Given the description of an element on the screen output the (x, y) to click on. 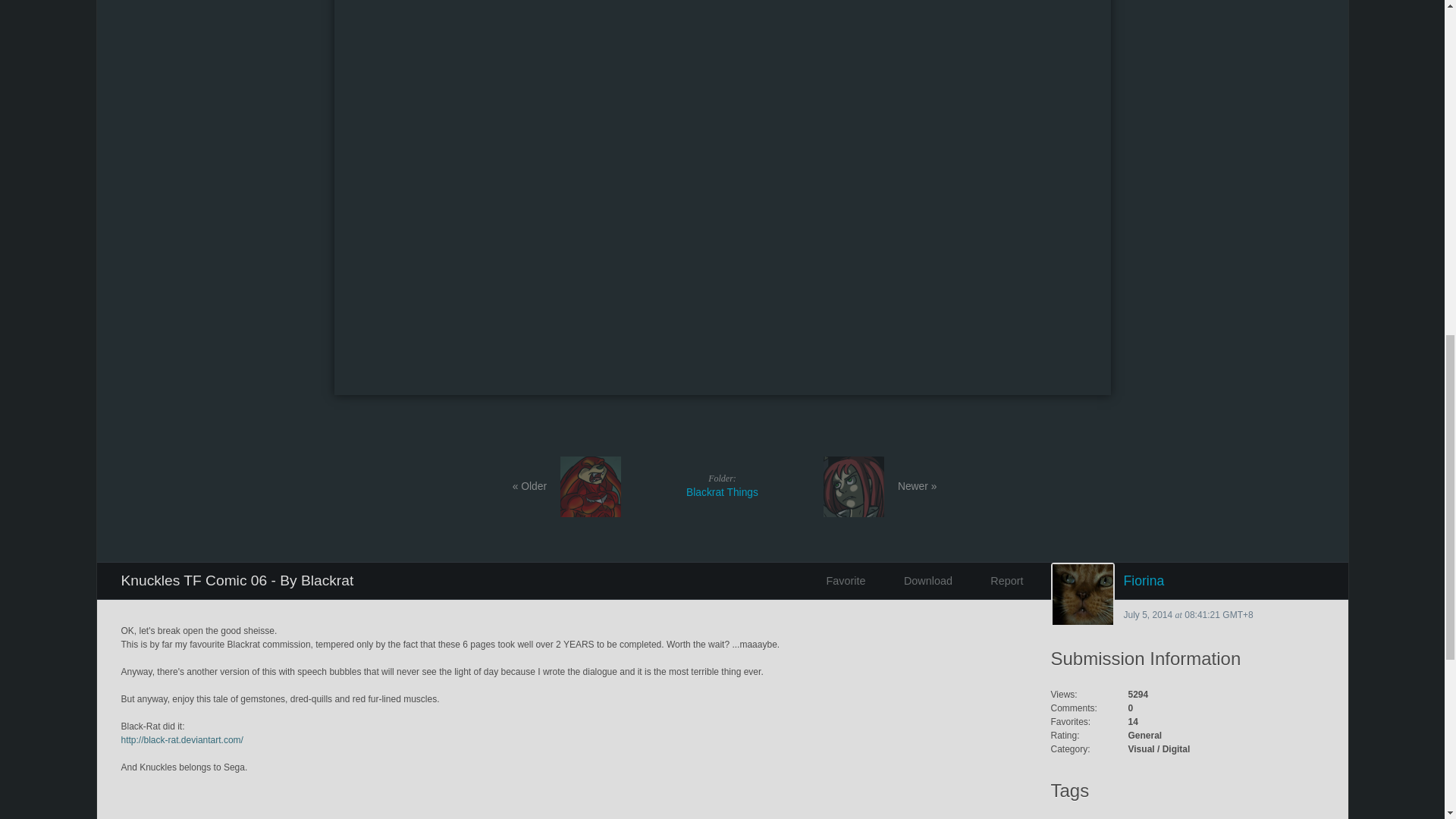
Fiorina (1187, 580)
Favorite (841, 580)
Download (721, 485)
Report (918, 580)
